Given the description of an element on the screen output the (x, y) to click on. 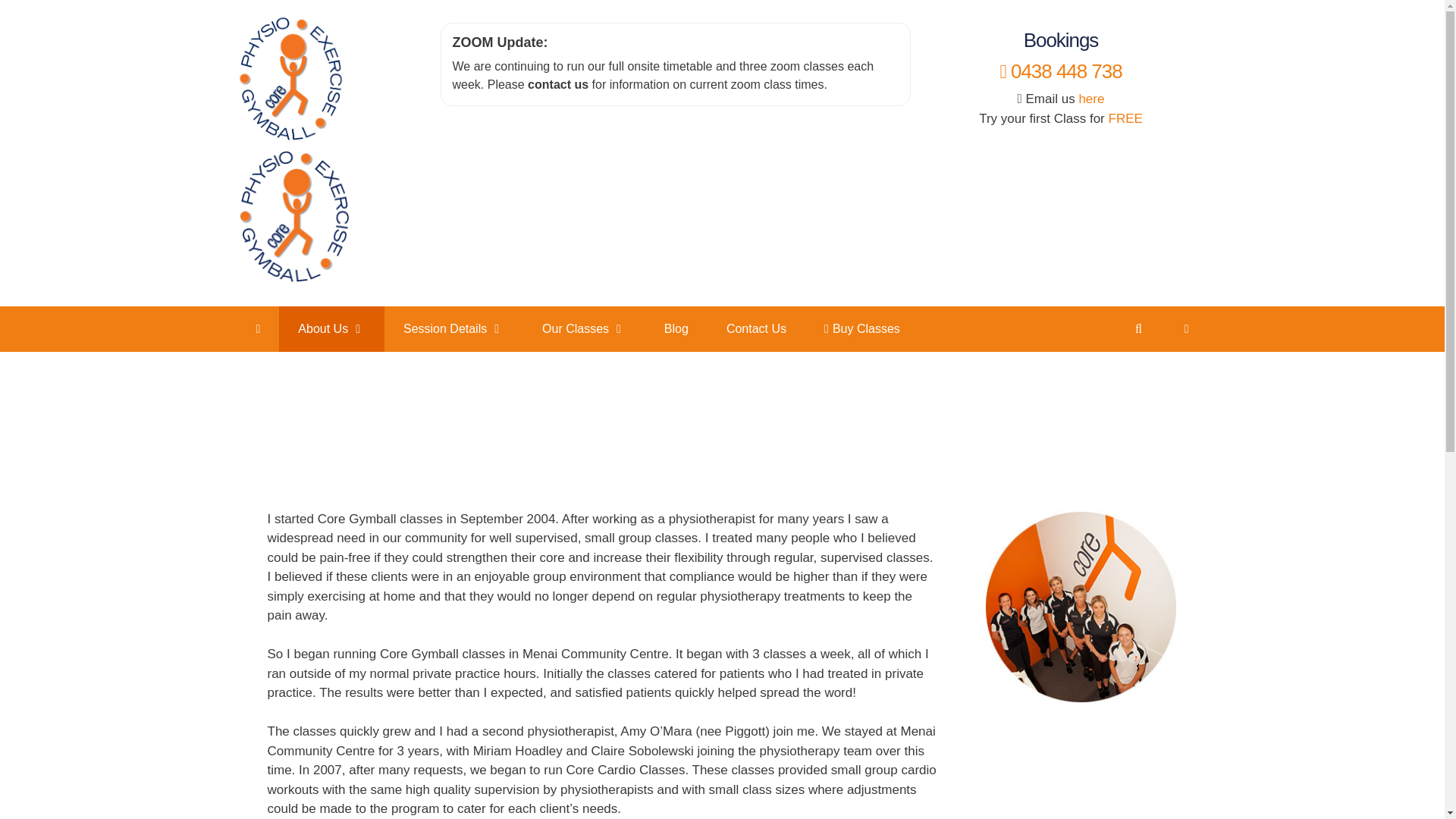
Contact Us (557, 83)
Core Gymball (288, 138)
0438 448 738 (1059, 70)
About Us (331, 329)
Our Classes (583, 329)
Buy Classes (861, 329)
Contact Us (756, 329)
Blog (676, 329)
contact us (557, 83)
here (1090, 98)
